Given the description of an element on the screen output the (x, y) to click on. 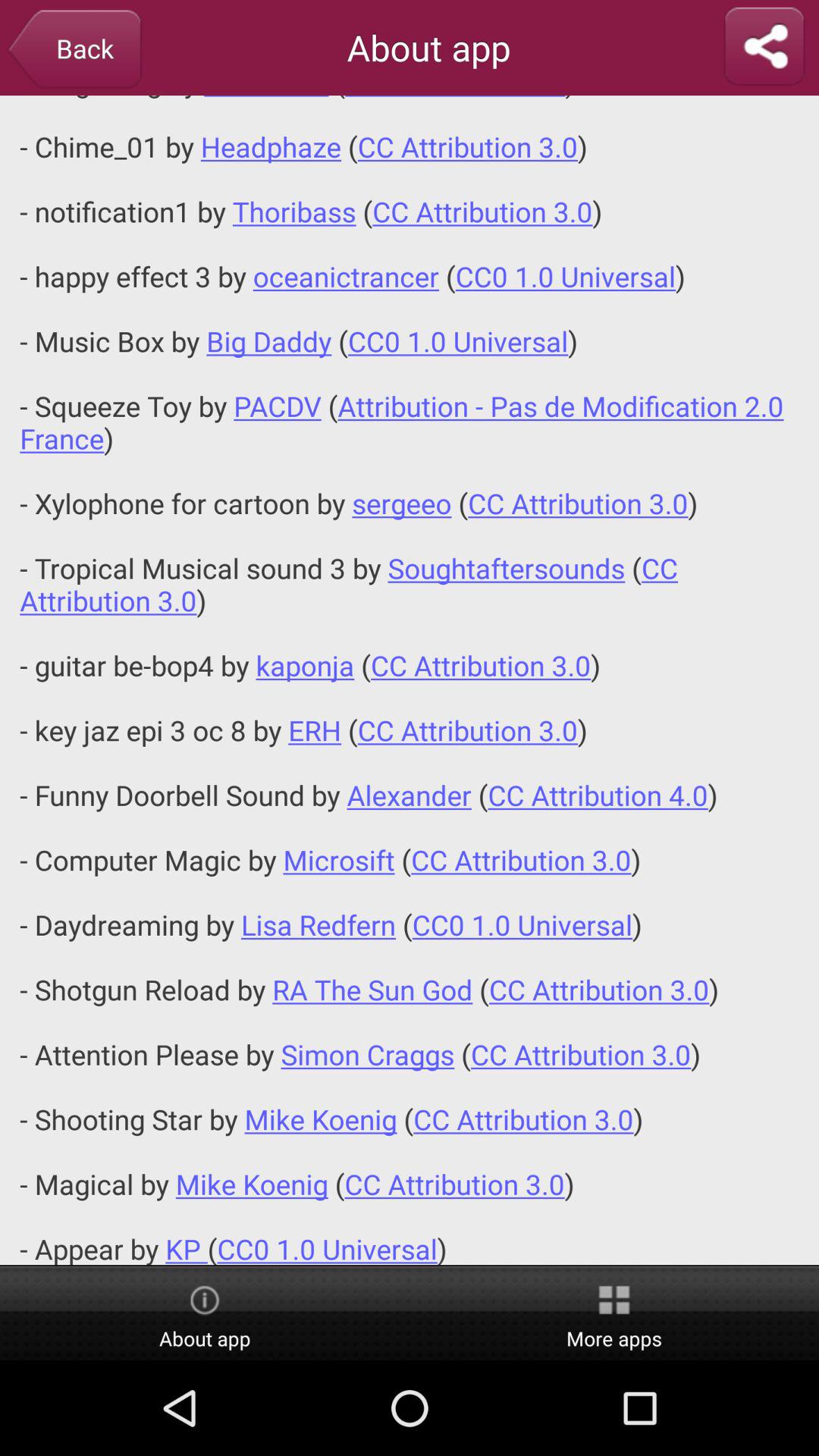
scroll to more apps icon (614, 1314)
